Given the description of an element on the screen output the (x, y) to click on. 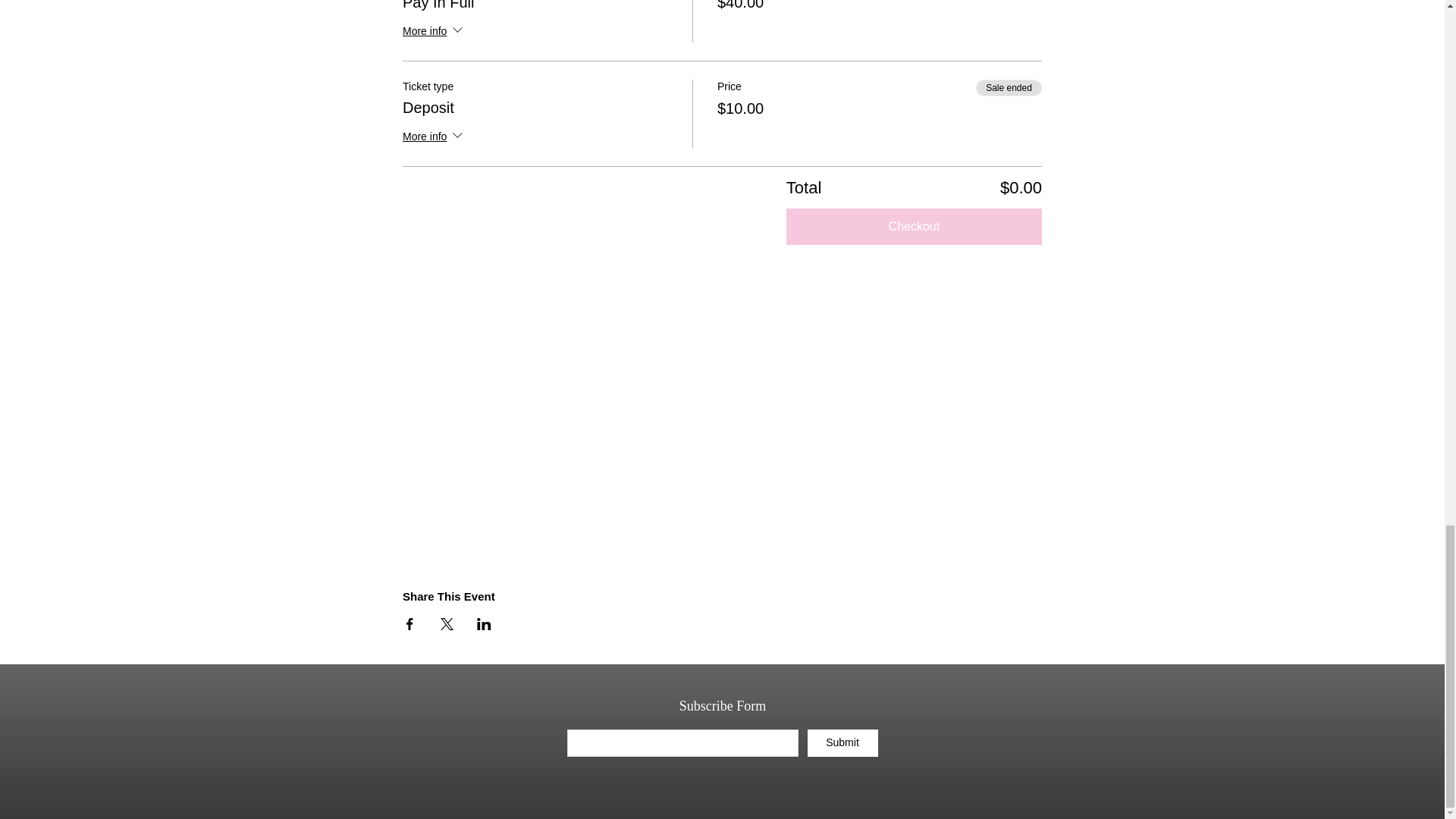
More info (434, 32)
Checkout (914, 226)
Submit (841, 742)
More info (434, 137)
